Given the description of an element on the screen output the (x, y) to click on. 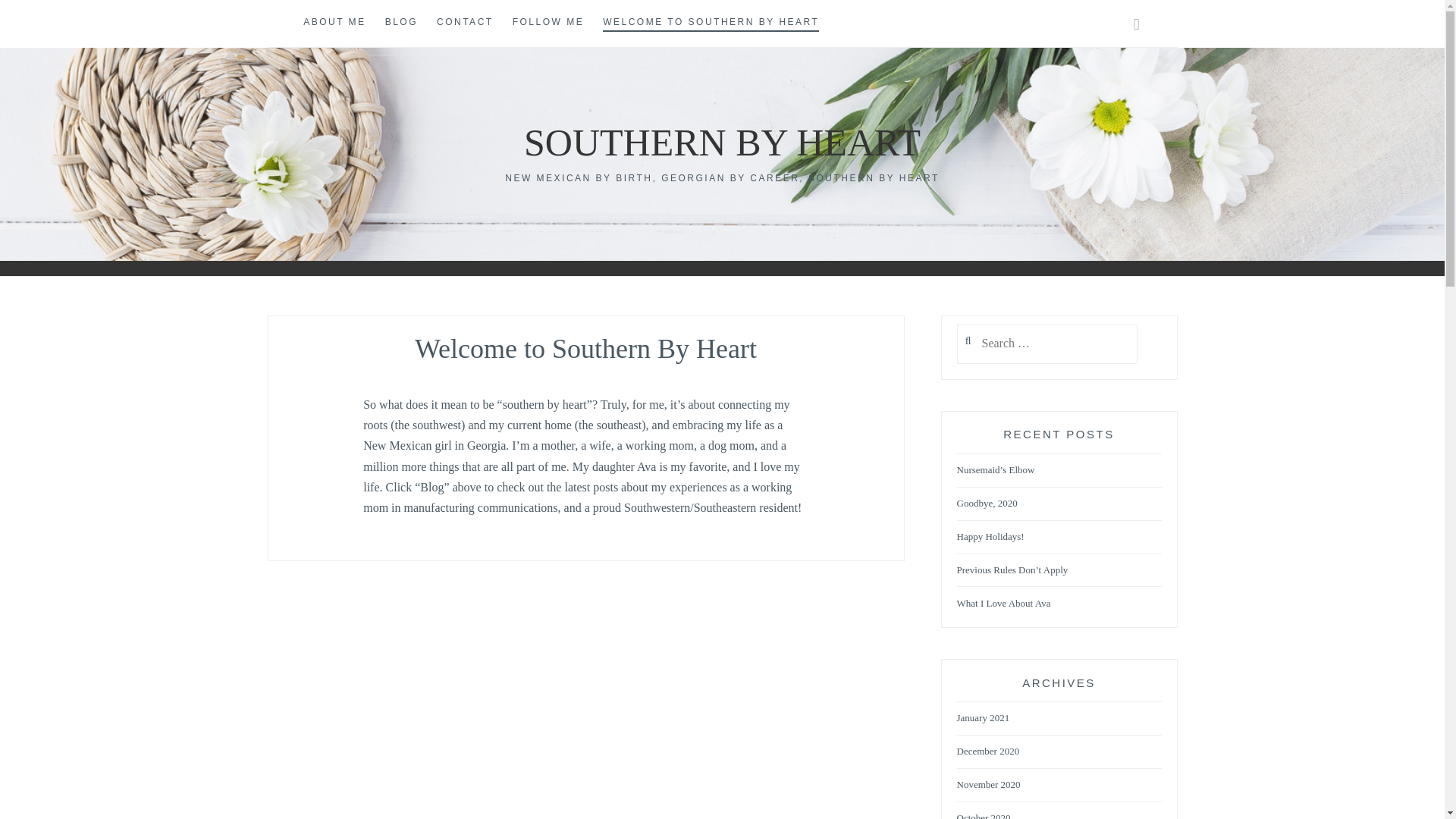
What I Love About Ava (1003, 603)
October 2020 (983, 815)
Search (42, 19)
Happy Holidays! (990, 536)
BLOG (401, 22)
WELCOME TO SOUTHERN BY HEART (710, 22)
FOLLOW ME (548, 22)
CONTACT (464, 22)
SOUTHERN BY HEART (722, 142)
November 2020 (988, 784)
